Given the description of an element on the screen output the (x, y) to click on. 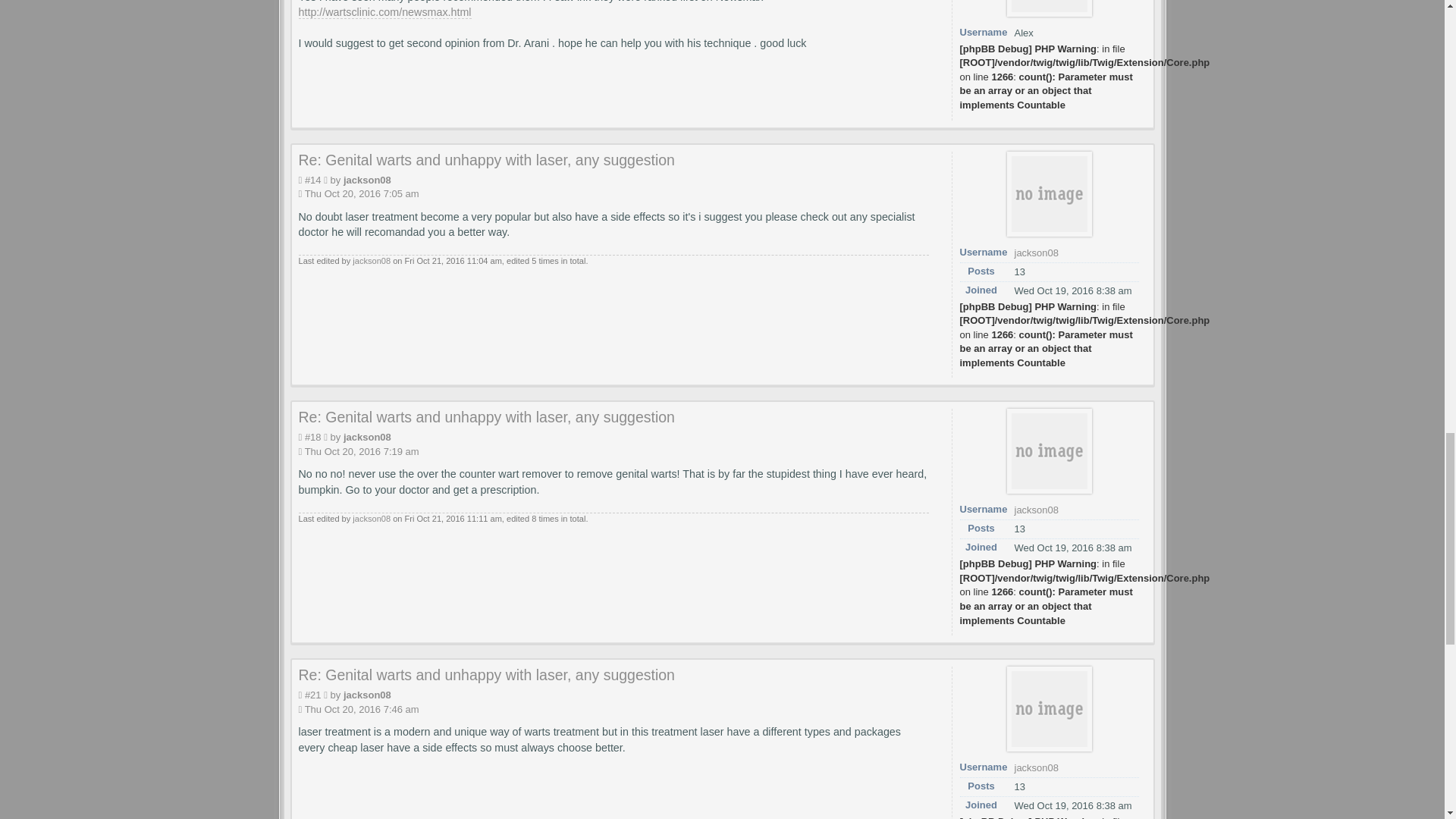
Re: Genital warts and unhappy with laser, any suggestion (486, 159)
jackson08 (371, 260)
jackson08 (1036, 252)
Re: Genital warts and unhappy with laser, any suggestion (486, 416)
jackson08 (367, 179)
